Given the description of an element on the screen output the (x, y) to click on. 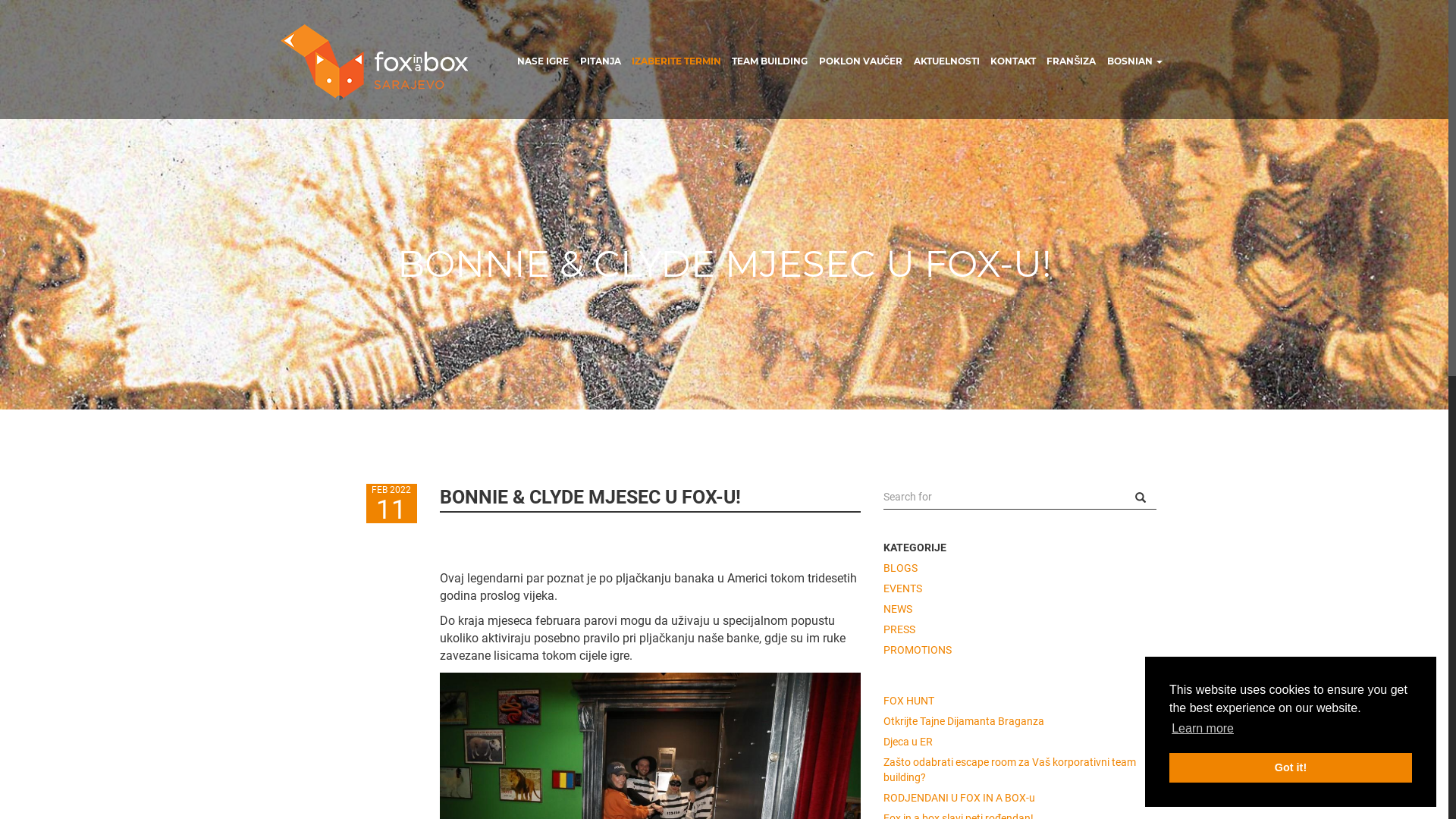
RODJENDANI U FOX IN A BOX-u Element type: text (1019, 794)
KONTAKT Element type: text (1334, 228)
IZABERITE TERMIN Element type: text (676, 60)
  Element type: text (1145, 497)
PITANJA Element type: text (599, 60)
EVENTS Element type: text (1019, 585)
ENG Element type: text (1316, 327)
BLOGS Element type: text (1019, 565)
AKTUELNOSTI Element type: text (1334, 195)
FOX HUNT Element type: text (1019, 697)
Otkrijte Tajne Dijamanta Braganza Element type: text (1019, 718)
TEAM BUILDING Element type: text (769, 60)
Fox in a Box Room Escape Sarajevo Element type: hover (373, 62)
NASE IGRE Element type: text (542, 60)
PITANJA Element type: text (1334, 66)
Learn more Element type: text (1202, 728)
BOS Element type: text (1353, 327)
NEWS Element type: text (1019, 606)
Got it! Element type: text (1290, 767)
IZABERITE TERMIN Element type: text (1334, 98)
TEAM BUILDING Element type: text (1334, 130)
AKTUELNOSTI Element type: text (945, 60)
PRESS Element type: text (1019, 626)
PROMOTIONS Element type: text (1019, 647)
Djeca u ER Element type: text (1019, 738)
KONTAKT Element type: text (1013, 60)
NASE IGRE Element type: text (1334, 33)
